Given the description of an element on the screen output the (x, y) to click on. 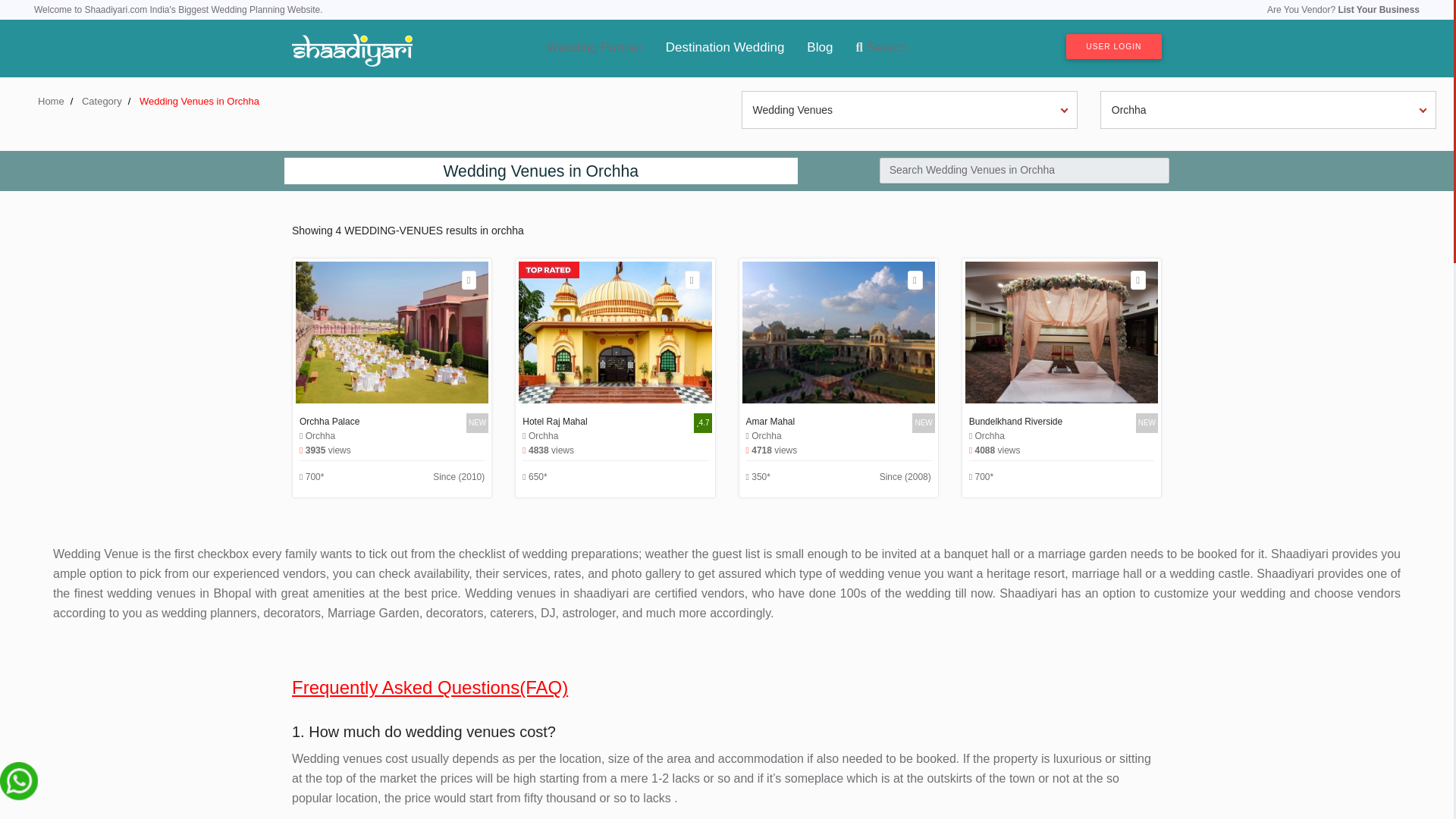
Destination Wedding (724, 47)
USER LOGIN (1113, 46)
Search (881, 47)
Blog (819, 47)
List Your Business (1378, 9)
Wedding Partner (594, 47)
